Given the description of an element on the screen output the (x, y) to click on. 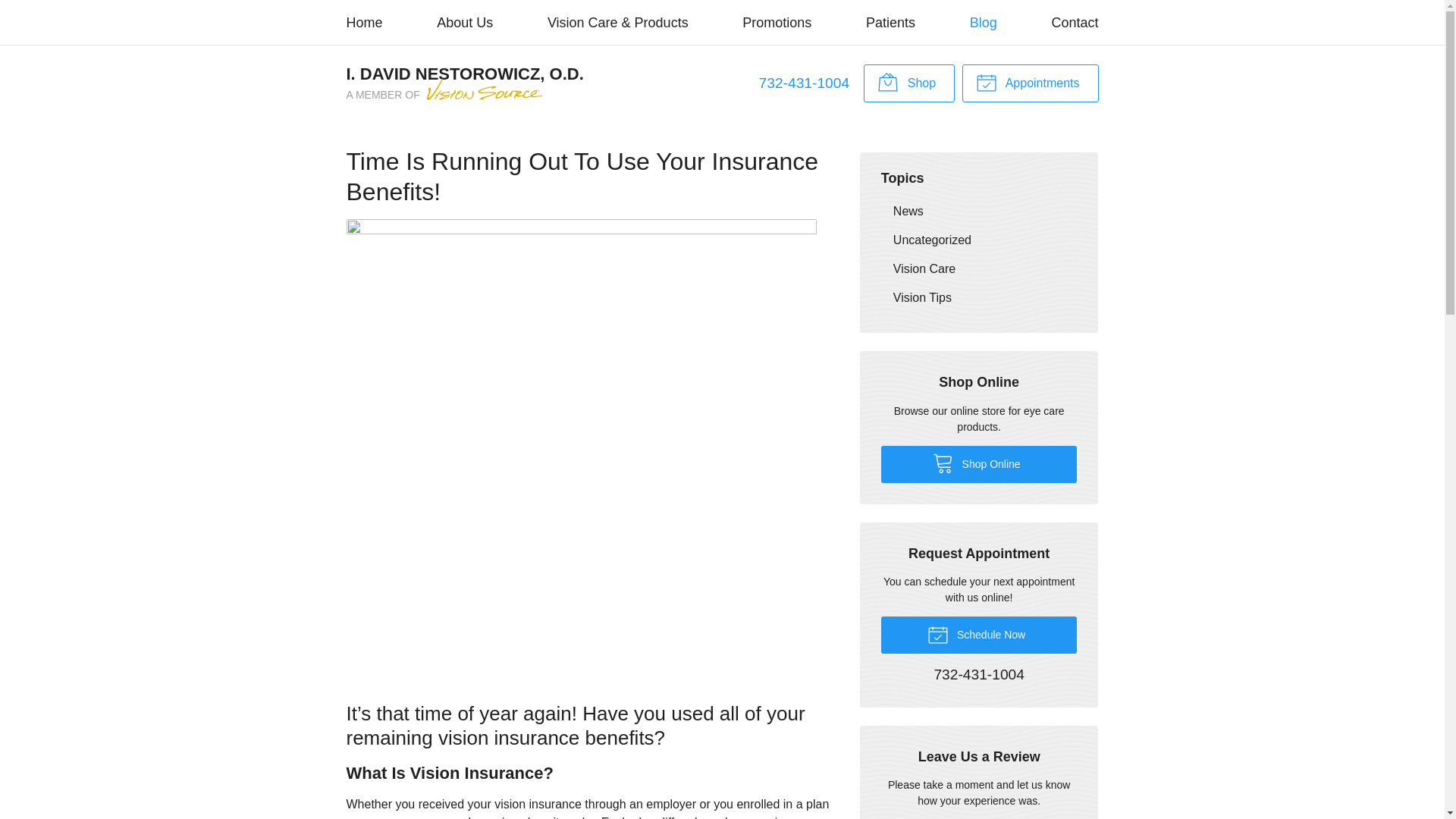
Call practice (804, 82)
Shop (909, 83)
Vision Care (978, 268)
732-431-1004 (979, 675)
About Us (464, 22)
Contact (1074, 22)
Shop Online (909, 83)
I. David Nestorowicz, O.D. (464, 83)
Home (363, 22)
Appointments (1029, 83)
